Given the description of an element on the screen output the (x, y) to click on. 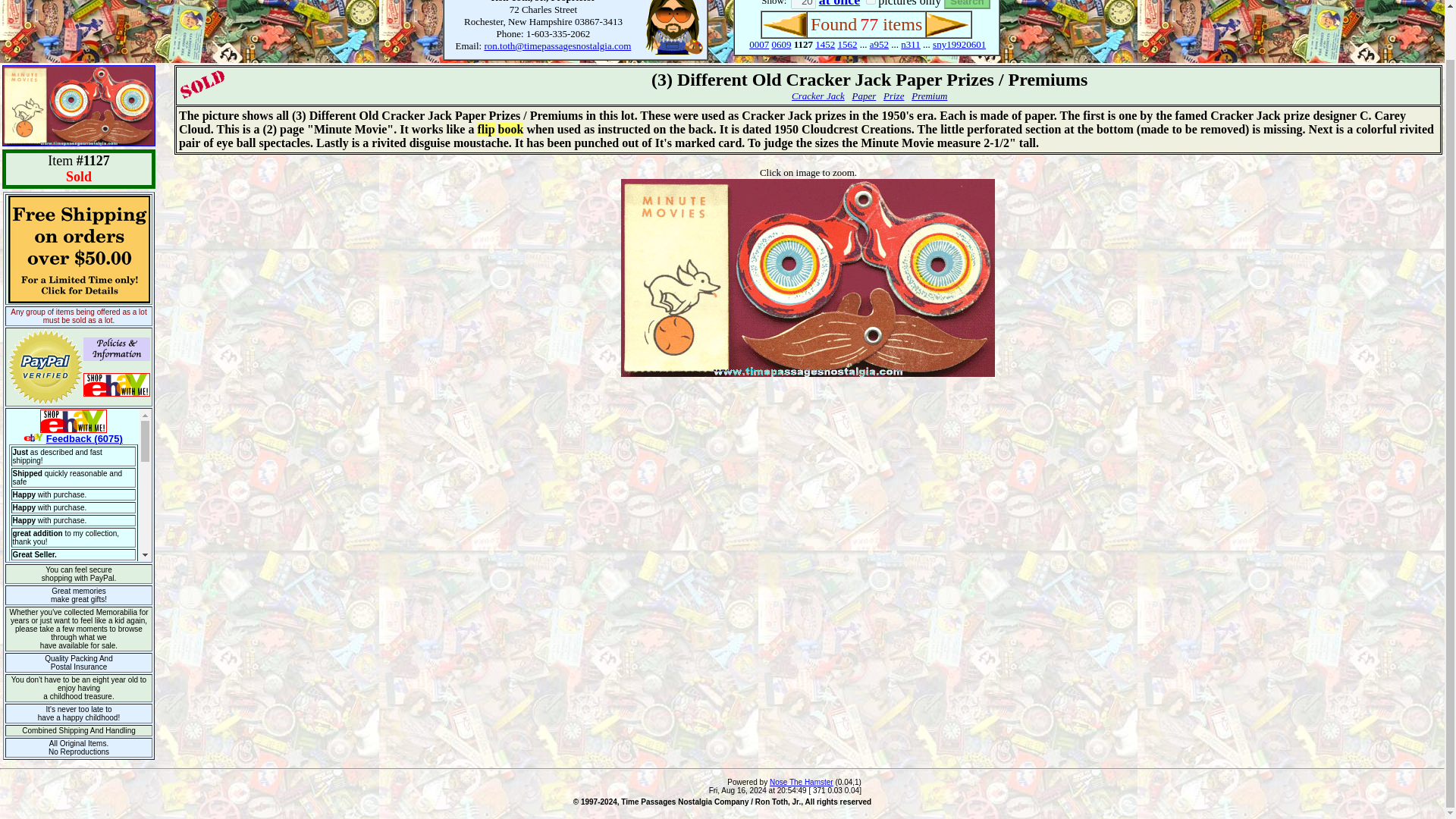
a952 (878, 43)
previous page (783, 24)
This item is already sold (202, 84)
Prize (893, 95)
Premium (929, 95)
0609 (780, 43)
Search (966, 4)
Recent Feedback (79, 485)
20 (802, 4)
Nose The Hamster (801, 782)
